Given the description of an element on the screen output the (x, y) to click on. 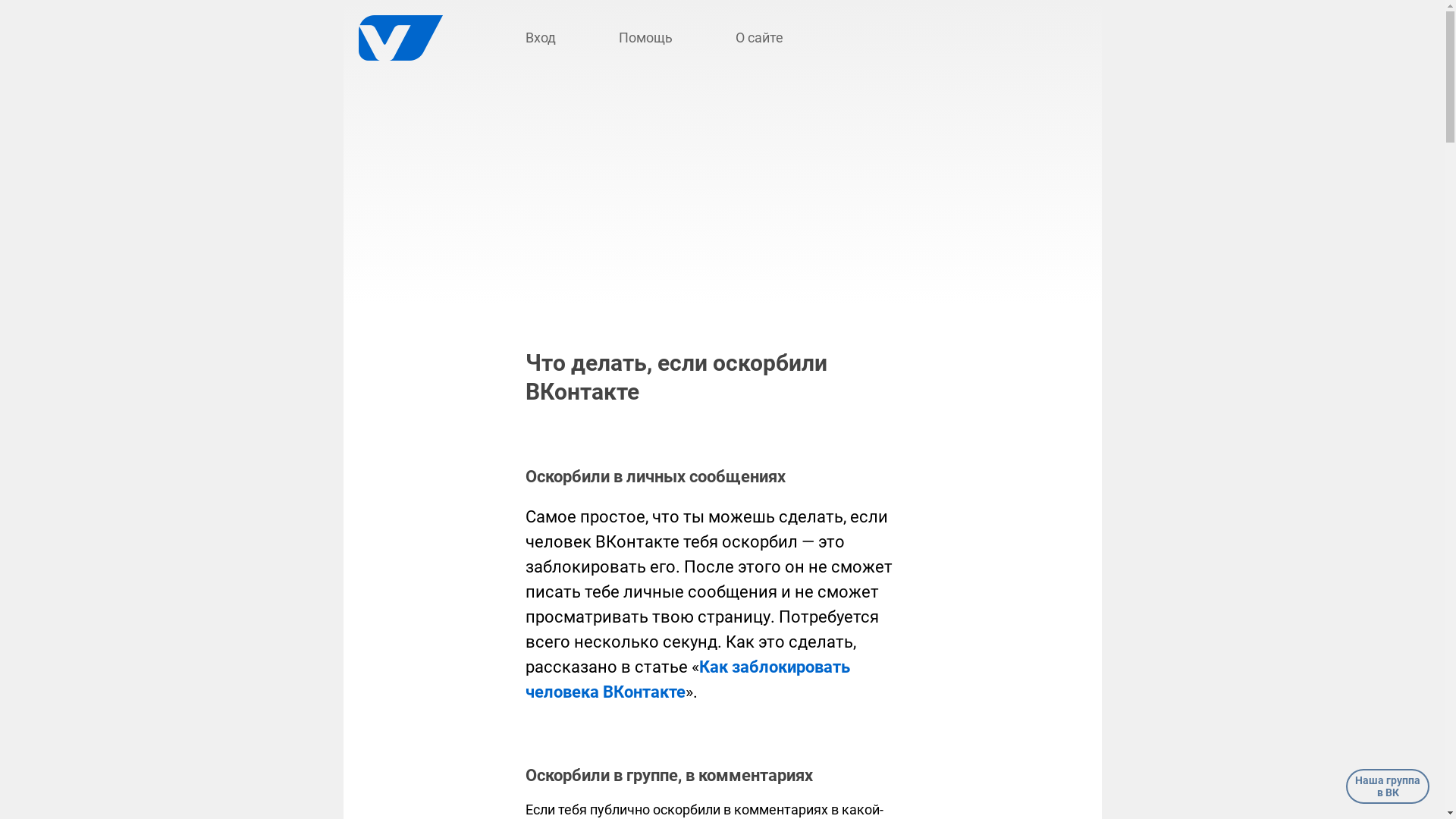
Advertisement Element type: hover (721, 197)
